Given the description of an element on the screen output the (x, y) to click on. 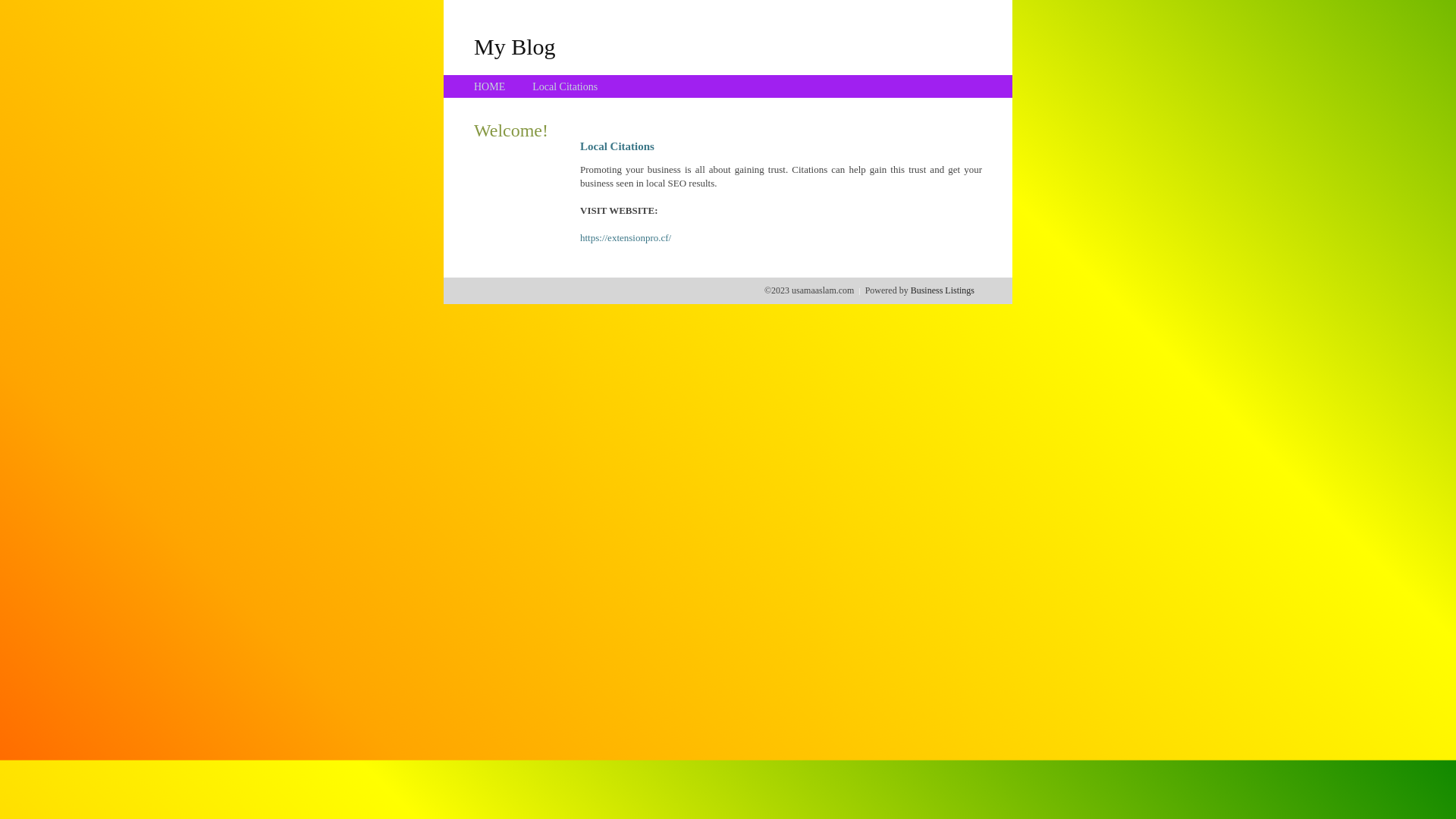
https://extensionpro.cf/ Element type: text (625, 237)
Business Listings Element type: text (942, 290)
HOME Element type: text (489, 86)
Local Citations Element type: text (564, 86)
My Blog Element type: text (514, 46)
